Given the description of an element on the screen output the (x, y) to click on. 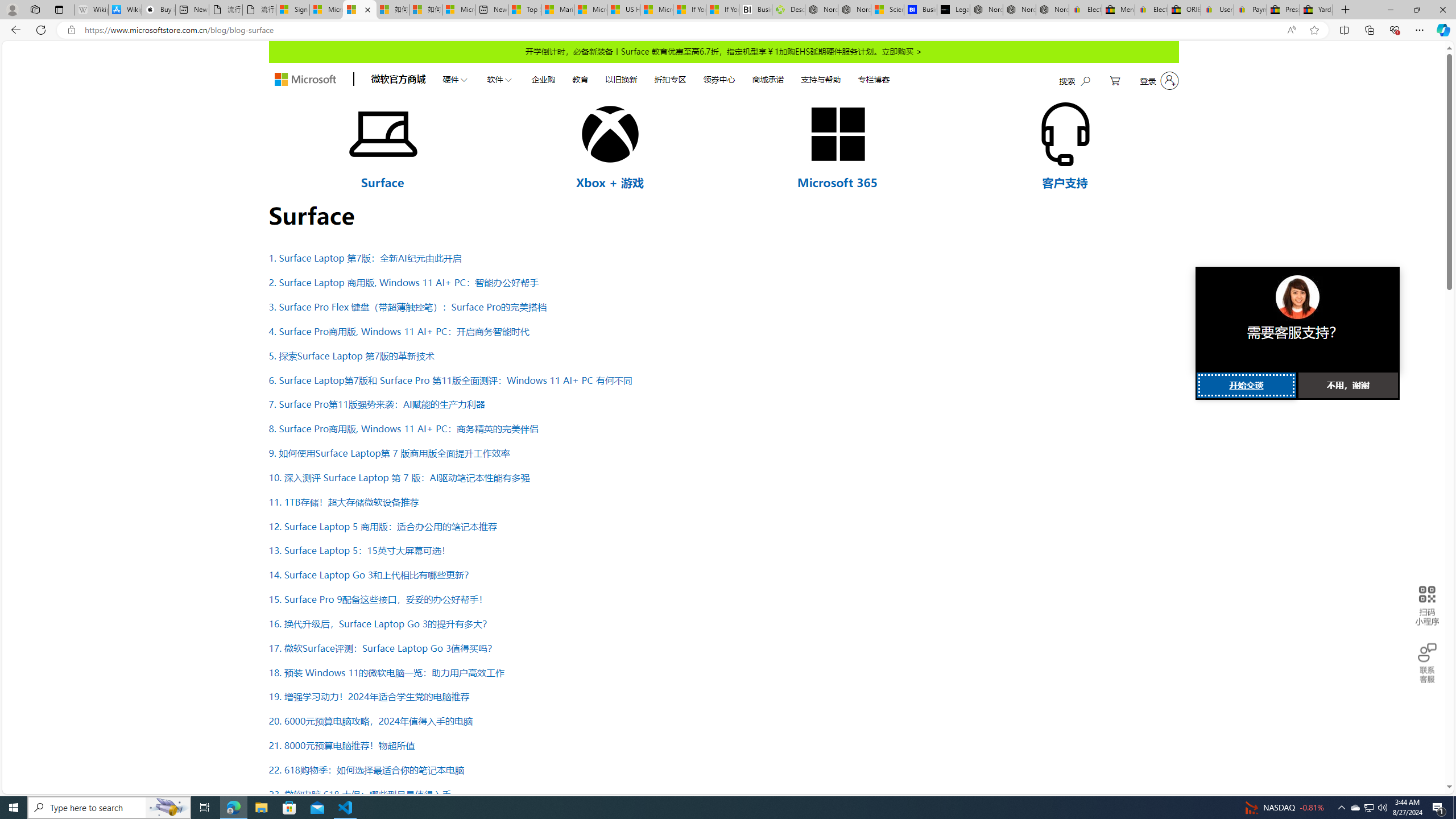
Press Room - eBay Inc. (1283, 9)
Microsoft Services Agreement (325, 9)
store logo (304, 79)
Yard, Garden & Outdoor Living (1316, 9)
